Given the description of an element on the screen output the (x, y) to click on. 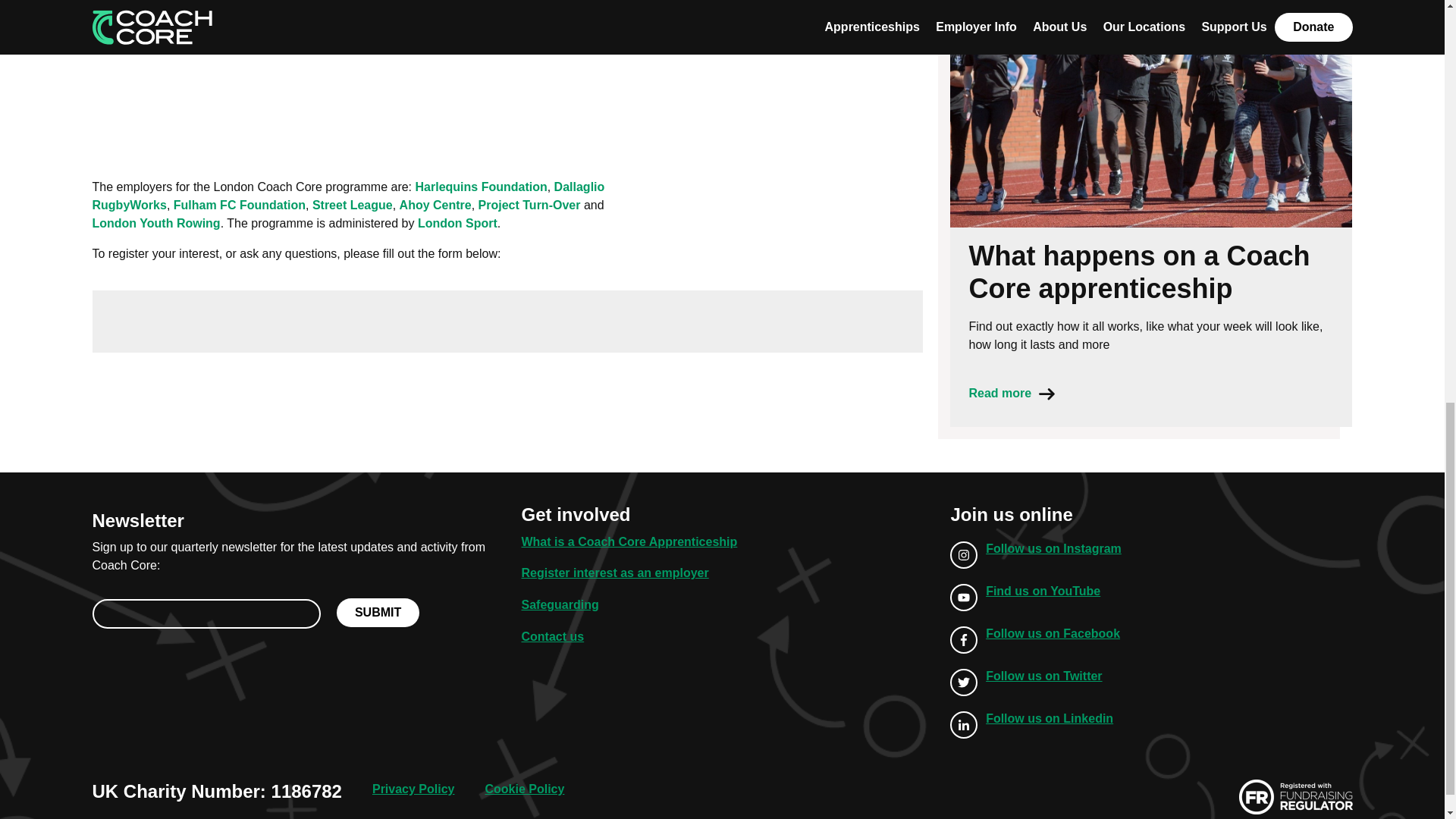
Safeguarding (559, 604)
Register interest as an employer (614, 572)
What is a Coach Core Apprenticeship (628, 541)
London Sport (457, 223)
Follow us on Instagram (1035, 554)
Harlequins Foundation (480, 186)
Follow us on Facebook (1035, 639)
Contact us (552, 635)
Street League (353, 205)
London Youth Rowing (157, 223)
Project Turn-Over (529, 205)
Fulham FC Foundation (239, 205)
Follow us on Linkedin (1035, 725)
Ahoy Centre (434, 205)
